Given the description of an element on the screen output the (x, y) to click on. 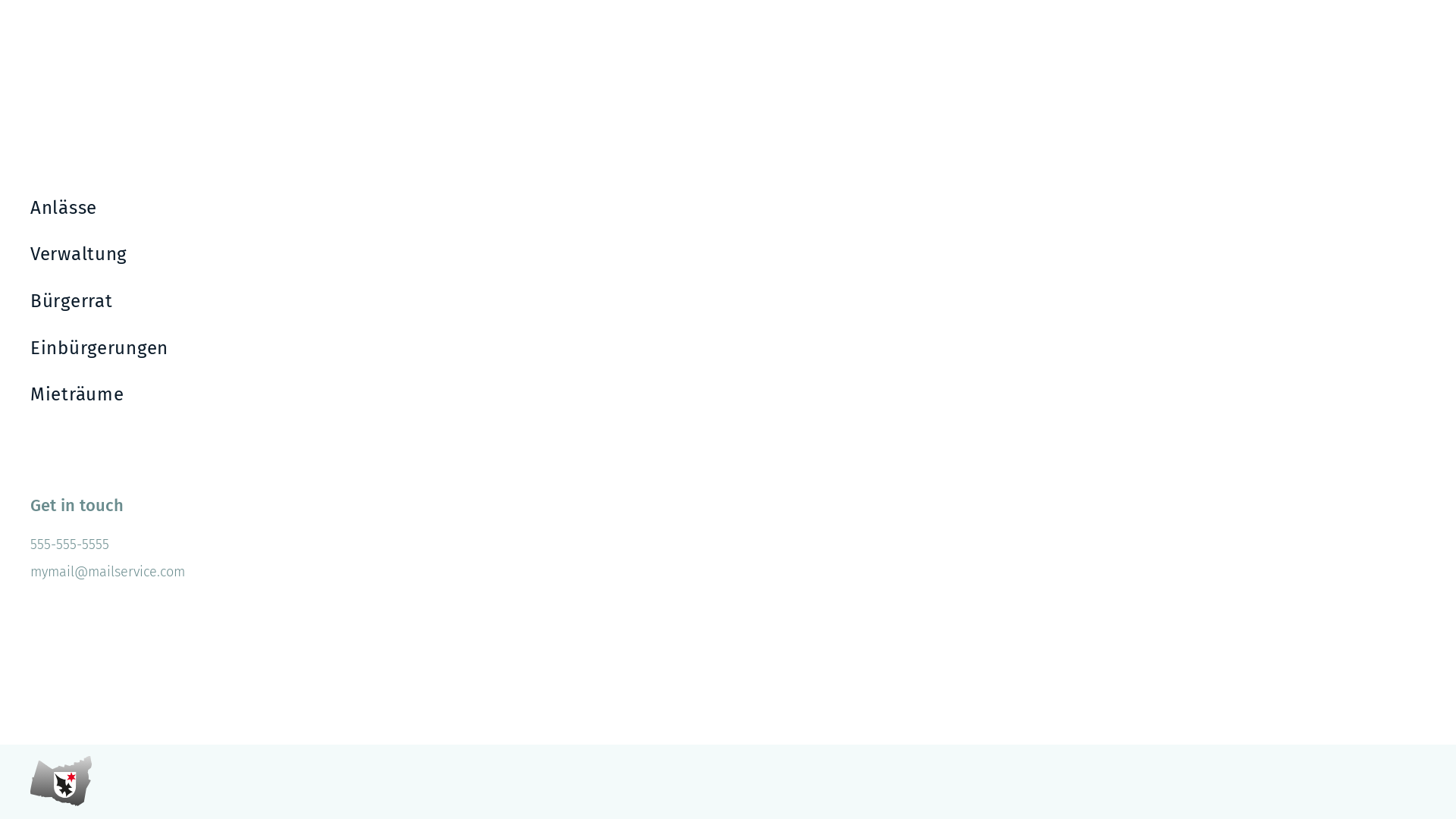
Verwaltung Element type: text (386, 254)
